Given the description of an element on the screen output the (x, y) to click on. 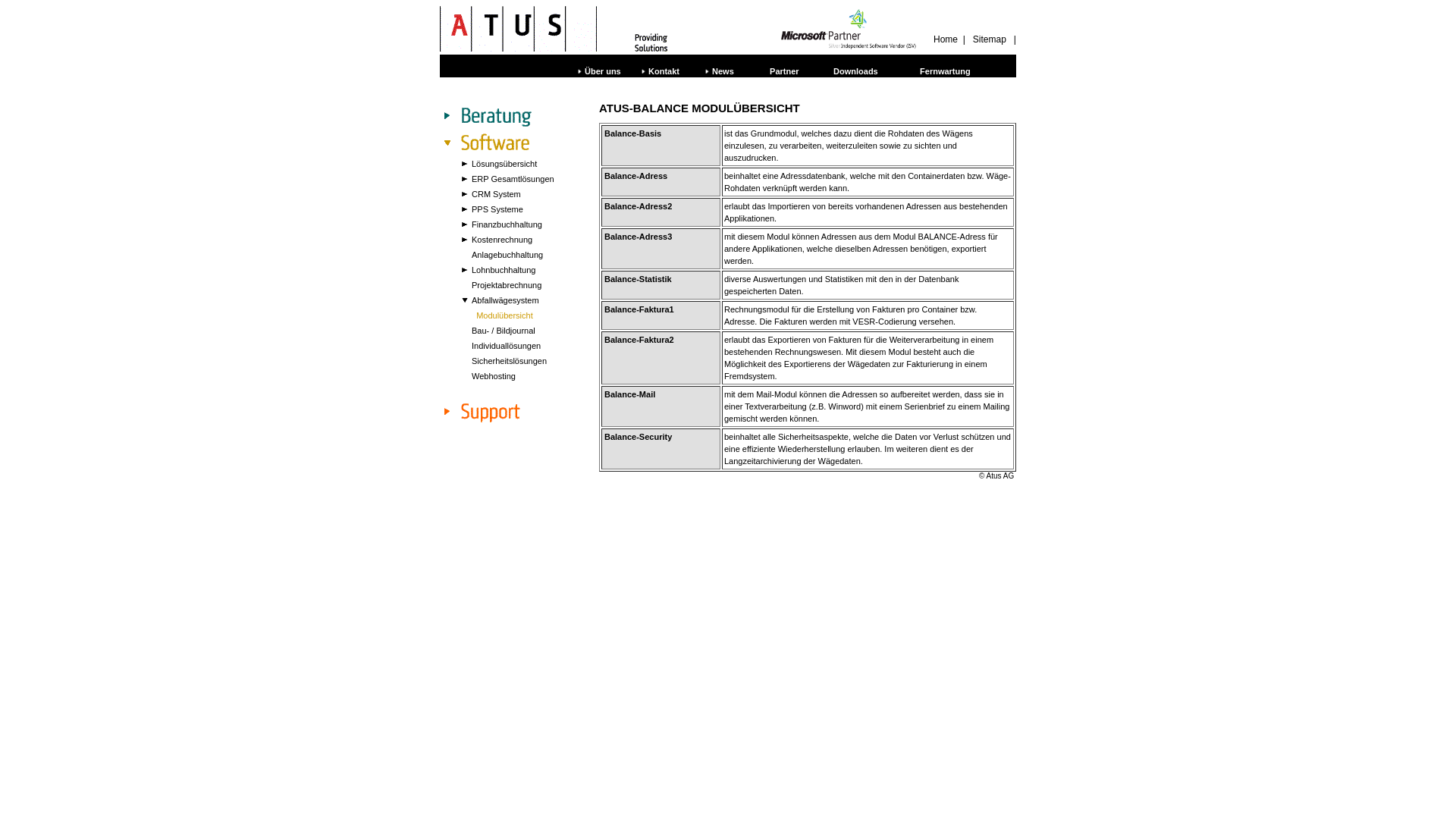
Projektabrechnung Element type: text (506, 284)
Bau- / Bildjournal Element type: text (503, 330)
 Downloads Element type: text (854, 70)
Kostenrechnung Element type: text (501, 239)
 Fernwartung Element type: text (943, 70)
 News Element type: text (718, 70)
PPS Systeme Element type: text (497, 208)
CRM System Element type: text (495, 193)
Finanzbuchhaltung Element type: text (506, 224)
Sitemap  Element type: text (990, 39)
Anlagebuchhaltung Element type: text (506, 254)
 Partner Element type: text (783, 70)
Home Element type: text (945, 39)
Webhosting Element type: text (493, 375)
Lohnbuchhaltung Element type: text (503, 269)
 Kontakt Element type: text (659, 70)
